Given the description of an element on the screen output the (x, y) to click on. 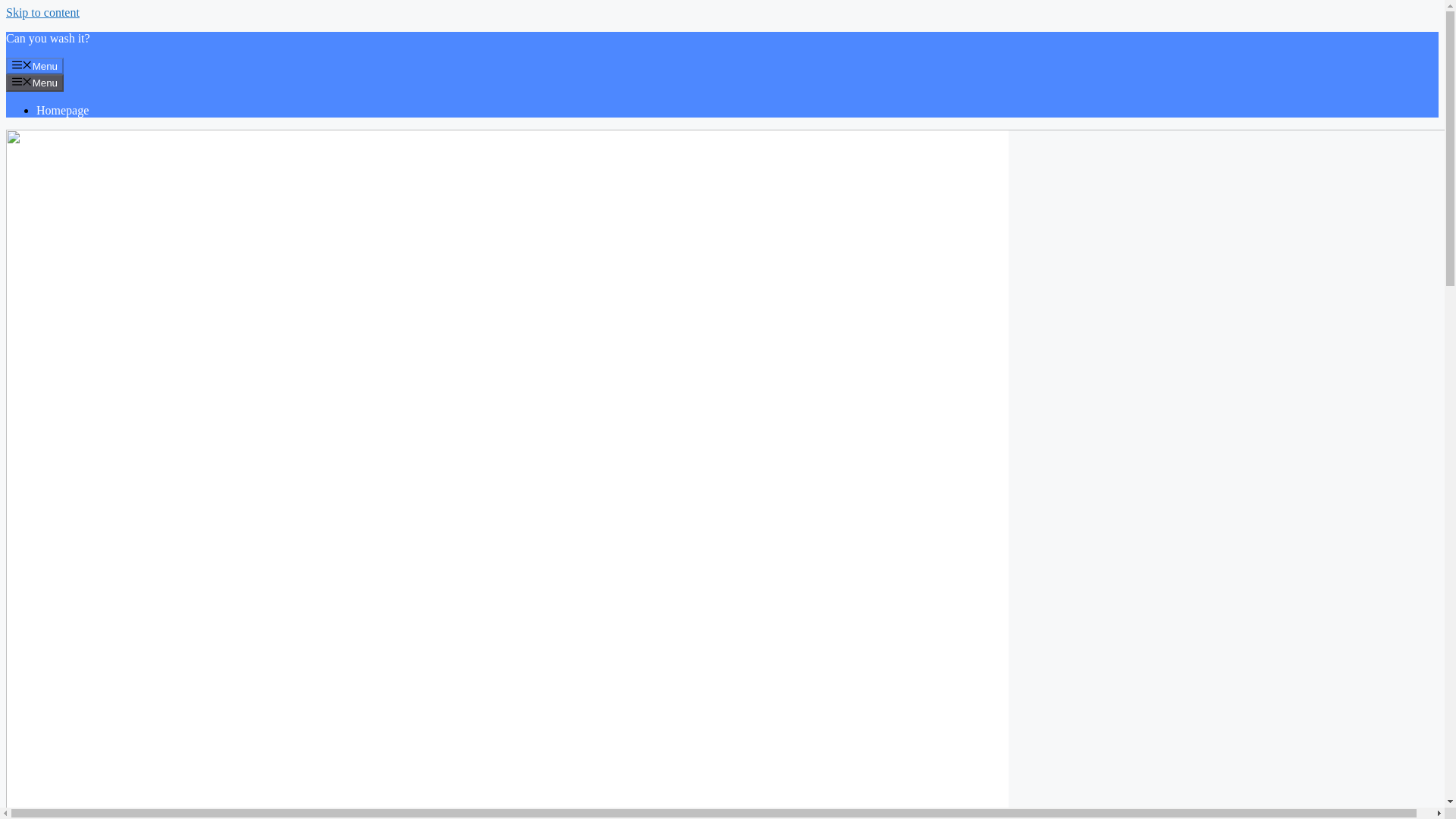
Menu (34, 65)
Homepage (62, 110)
Skip to content (42, 11)
Skip to content (42, 11)
Can you wash it? (47, 38)
Menu (34, 82)
